Given the description of an element on the screen output the (x, y) to click on. 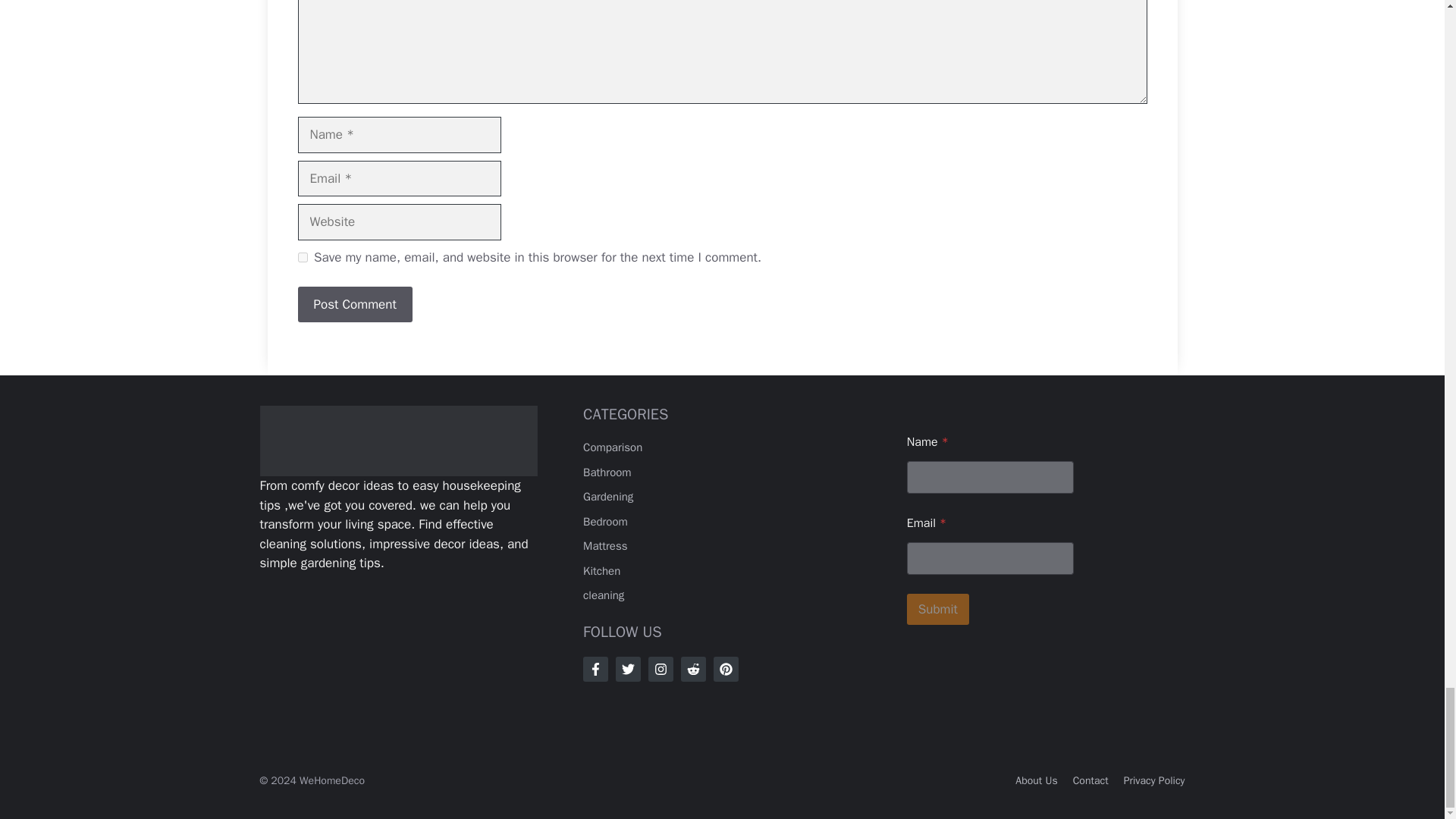
Post Comment (354, 304)
Post Comment (354, 304)
yes (302, 257)
